Given the description of an element on the screen output the (x, y) to click on. 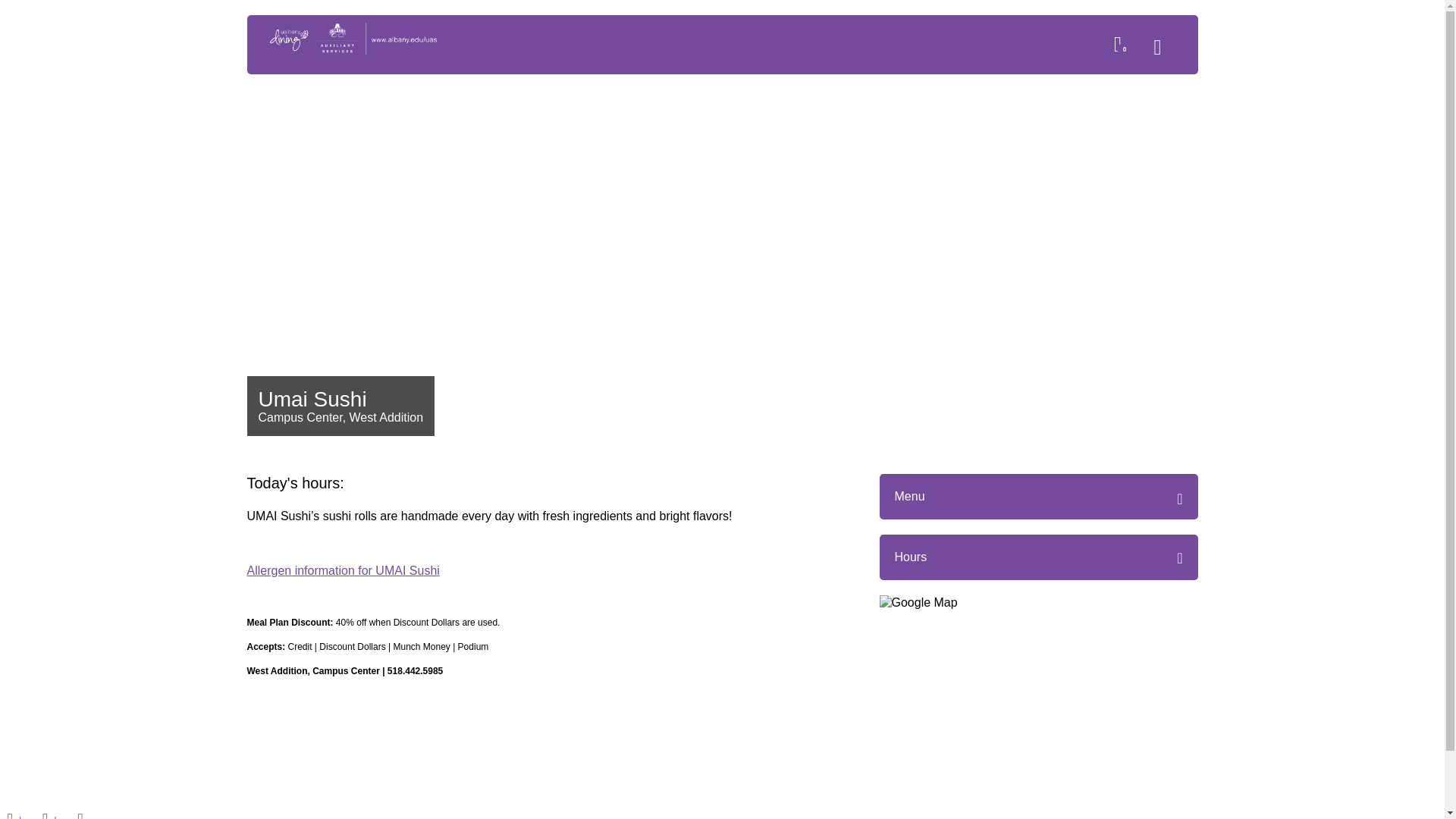
UMAI Sushi - 2023 Allergens (343, 570)
UMAI Sushi - 2023 Allergens (545, 570)
Menu (1038, 496)
Allergen information for UMAI Sushi (343, 570)
Hours (911, 556)
0 (1124, 47)
Menu (1164, 50)
Shopping Cart (1124, 47)
